Given the description of an element on the screen output the (x, y) to click on. 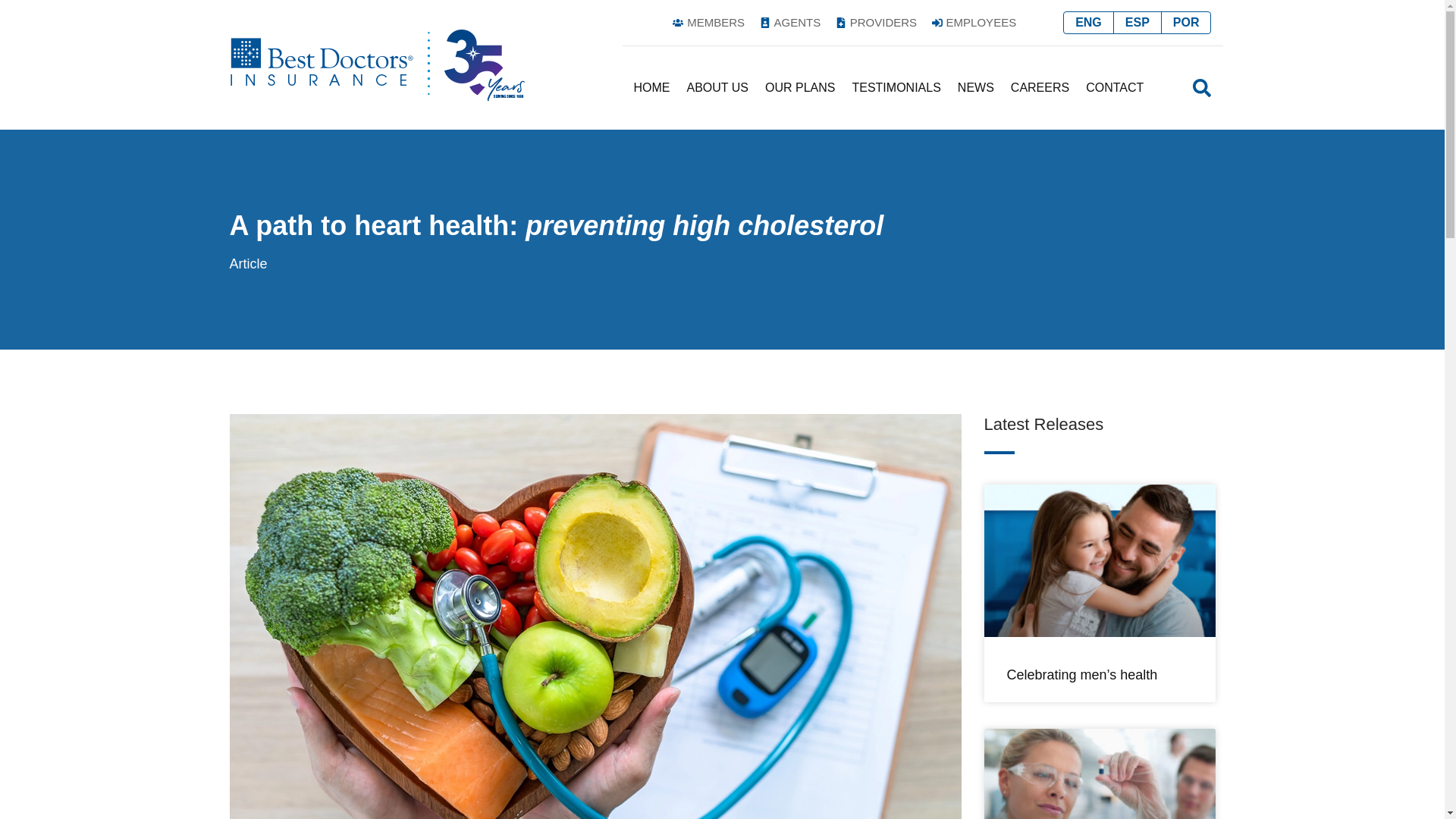
ESP (1136, 22)
POR (1186, 22)
PROVIDERS (874, 22)
MEMBERS (706, 22)
OUR PLANS (799, 87)
AGENTS (789, 22)
EMPLOYEES (972, 22)
TESTIMONIALS (895, 87)
ENG (1088, 22)
